Given the description of an element on the screen output the (x, y) to click on. 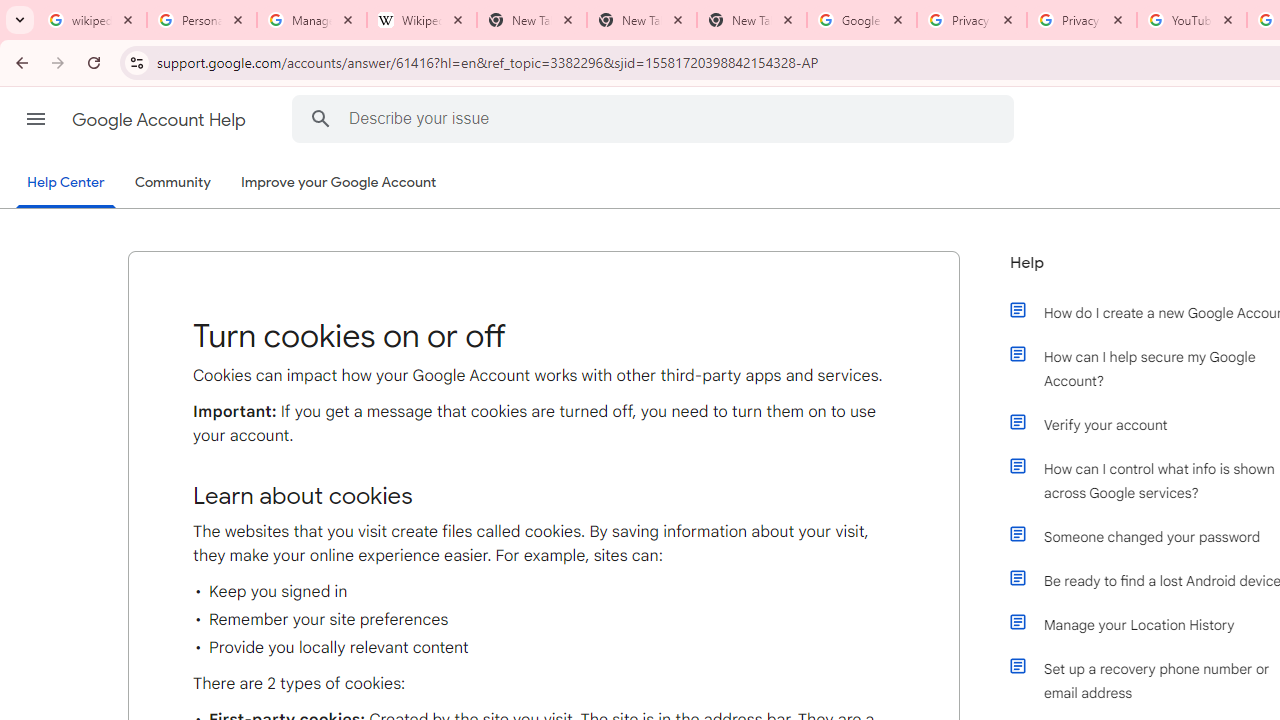
Manage your Location History - Google Search Help (312, 20)
Wikipedia:Edit requests - Wikipedia (422, 20)
New Tab (642, 20)
Search Help Center (320, 118)
Improve your Google Account (339, 183)
Community (171, 183)
